Given the description of an element on the screen output the (x, y) to click on. 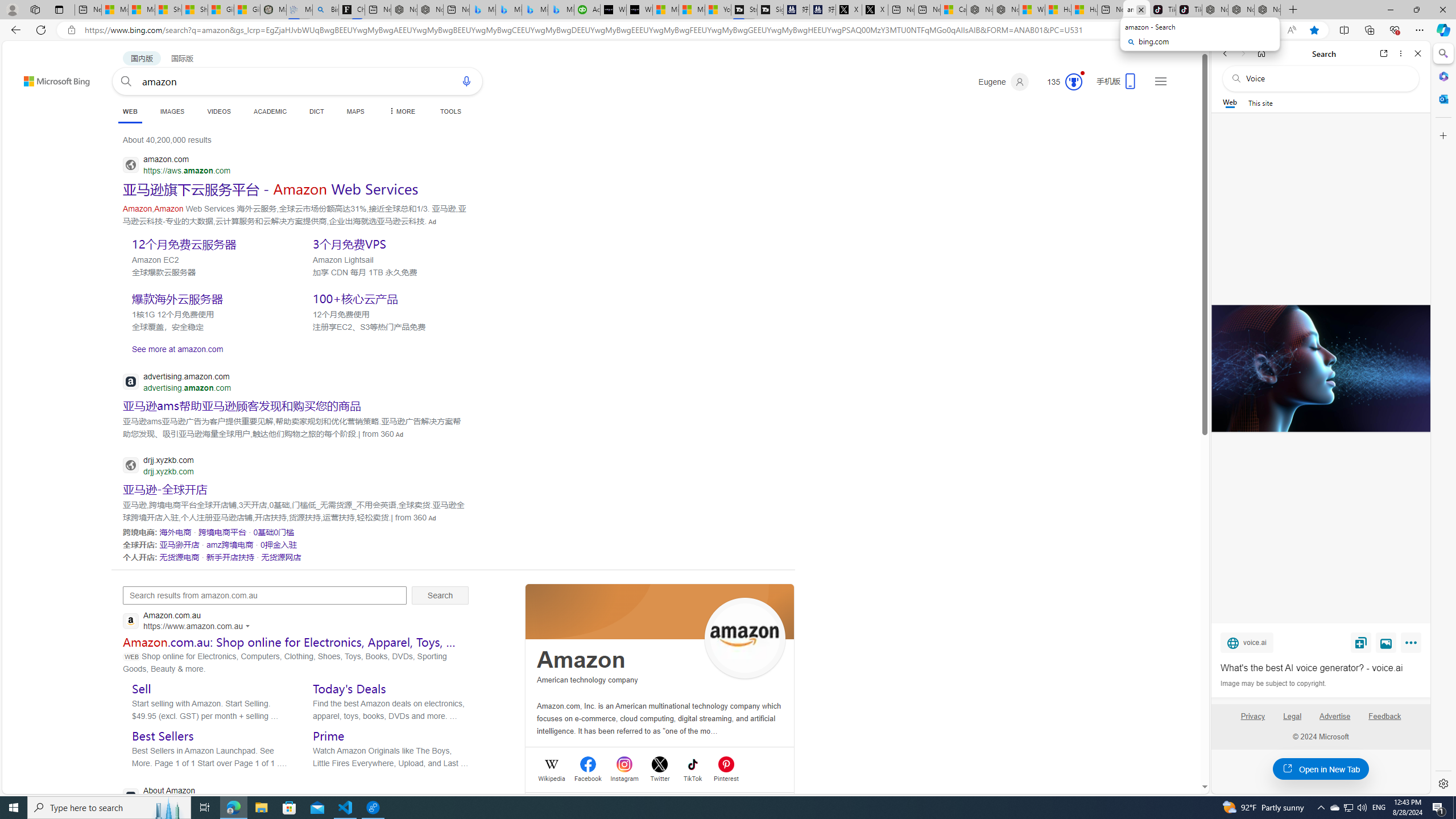
Search using voice (465, 80)
Sell (141, 688)
View image (1385, 642)
Class: medal-svg-animation (1073, 81)
Class: spl_logobg (659, 611)
Advertise (1335, 715)
Class: outer-circle-animation (1073, 81)
Pinterest (726, 777)
TikTok (1188, 9)
About Amazon (226, 796)
